Given the description of an element on the screen output the (x, y) to click on. 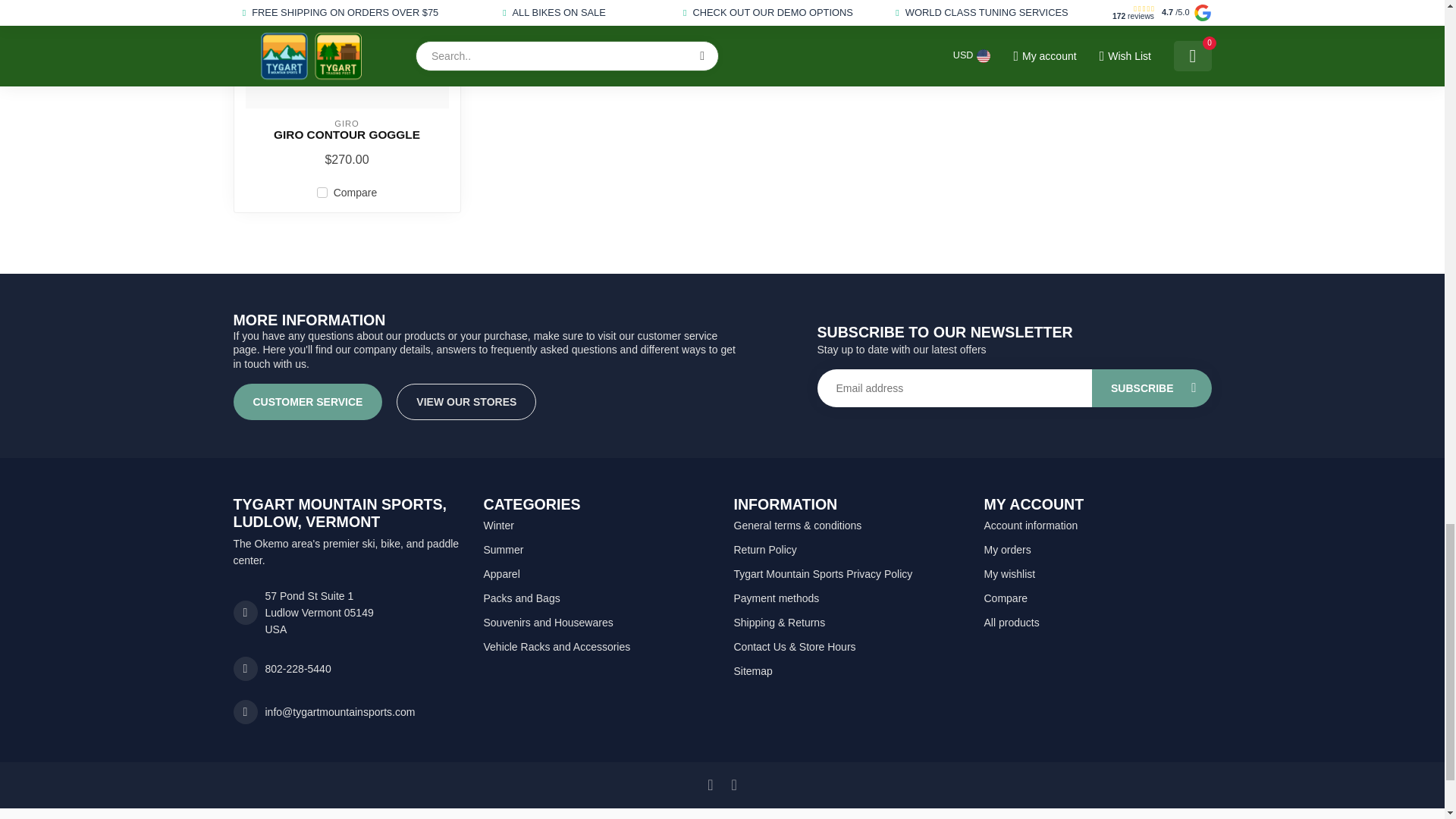
Sitemap (846, 671)
Giro Giro Contour Goggle (347, 54)
Return Policy (846, 549)
All products (1097, 622)
My orders (1097, 549)
Giro Giro Contour Goggle (347, 134)
Account information (1097, 525)
My wishlist (1097, 573)
Compare (1097, 598)
Tygart Mountain Sports Privacy Policy (846, 573)
Payment methods (846, 598)
